Given the description of an element on the screen output the (x, y) to click on. 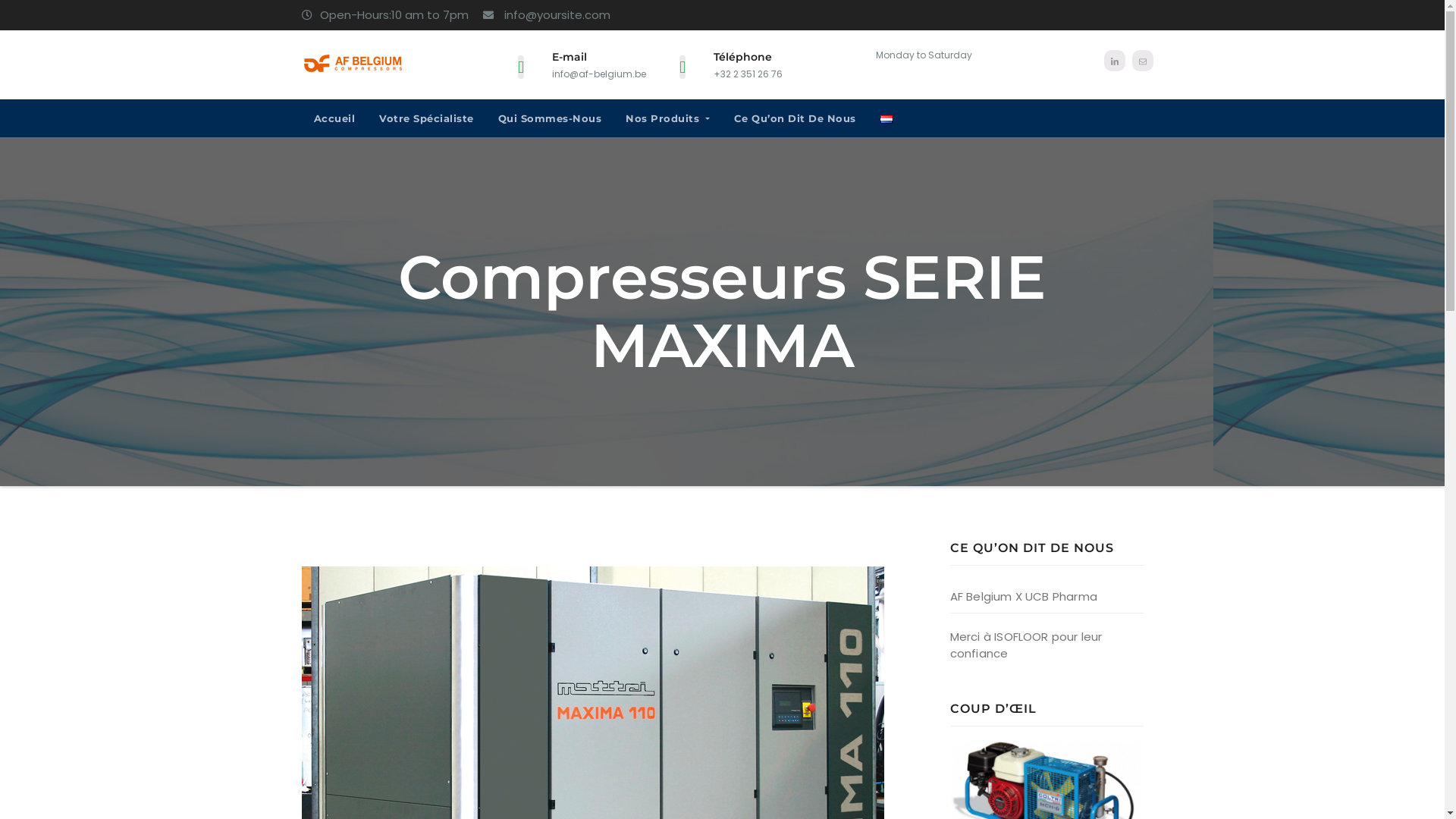
Accueil Element type: text (334, 118)
Qui Sommes-Nous Element type: text (549, 118)
